Given the description of an element on the screen output the (x, y) to click on. 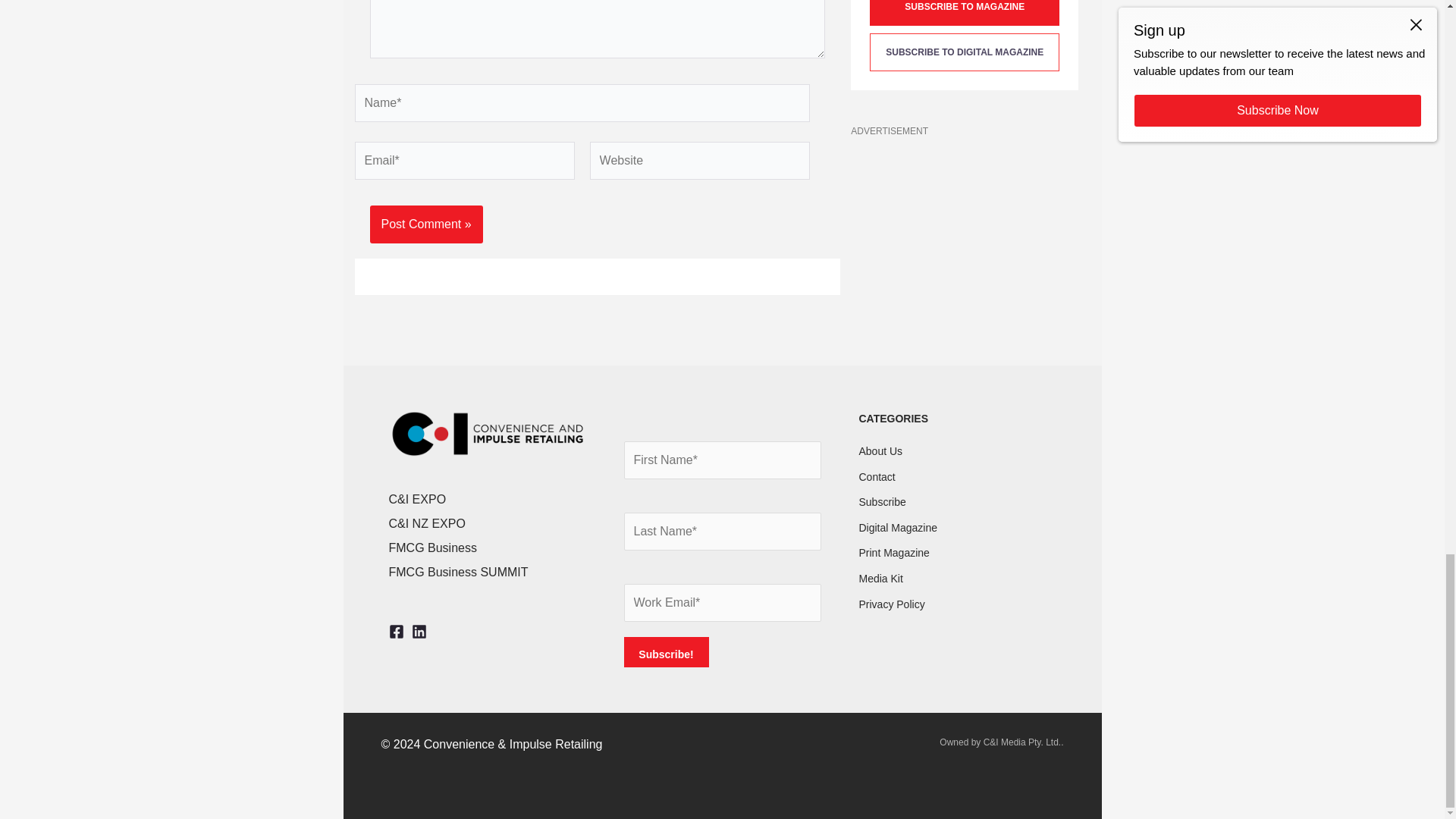
3rd party ad content (964, 239)
Subscribe! (665, 652)
